Given the description of an element on the screen output the (x, y) to click on. 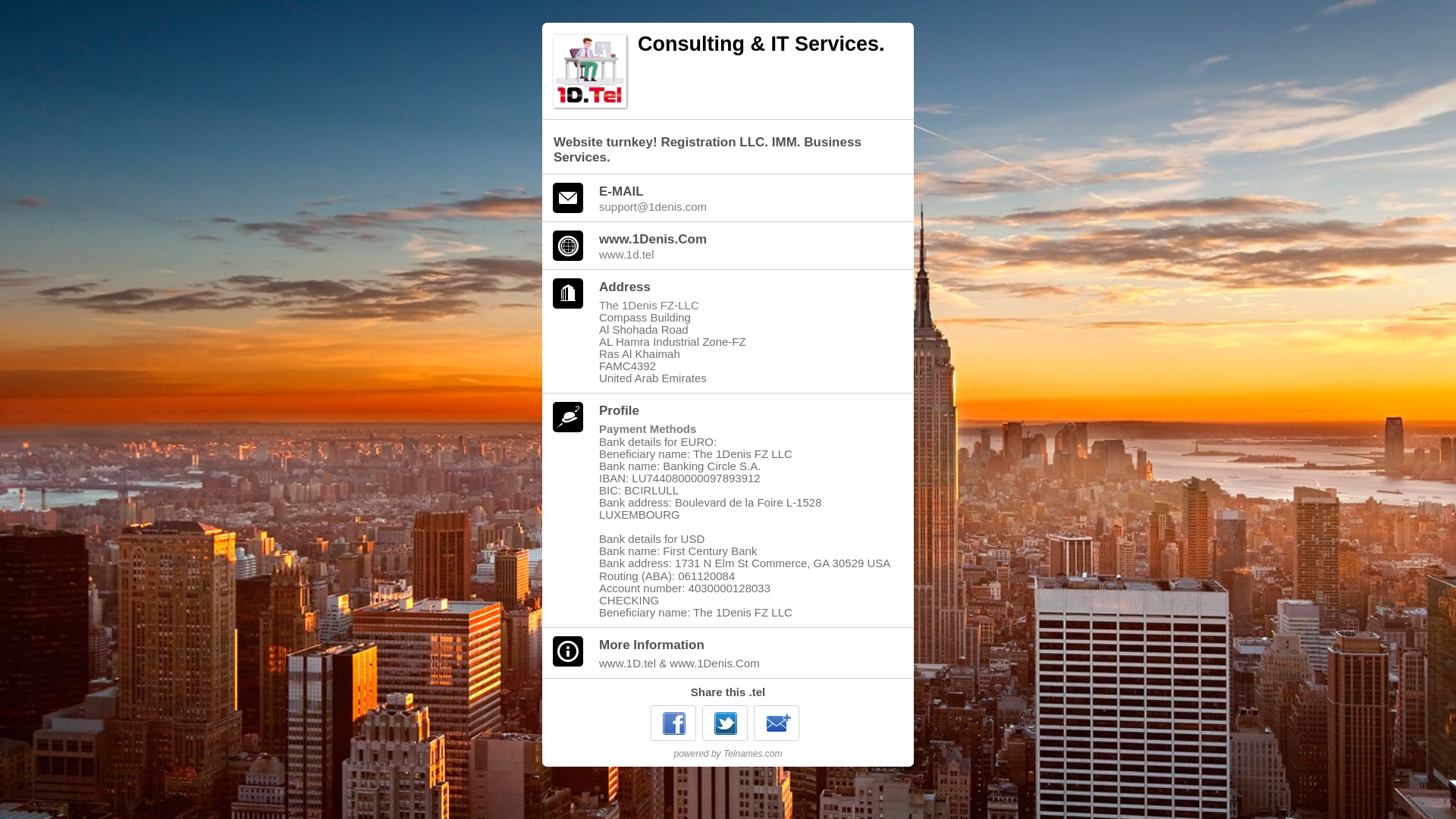
www.1d.tel Element type: text (746, 253)
Telnames.com Element type: text (752, 753)
support@1denis.com Element type: text (746, 206)
